Given the description of an element on the screen output the (x, y) to click on. 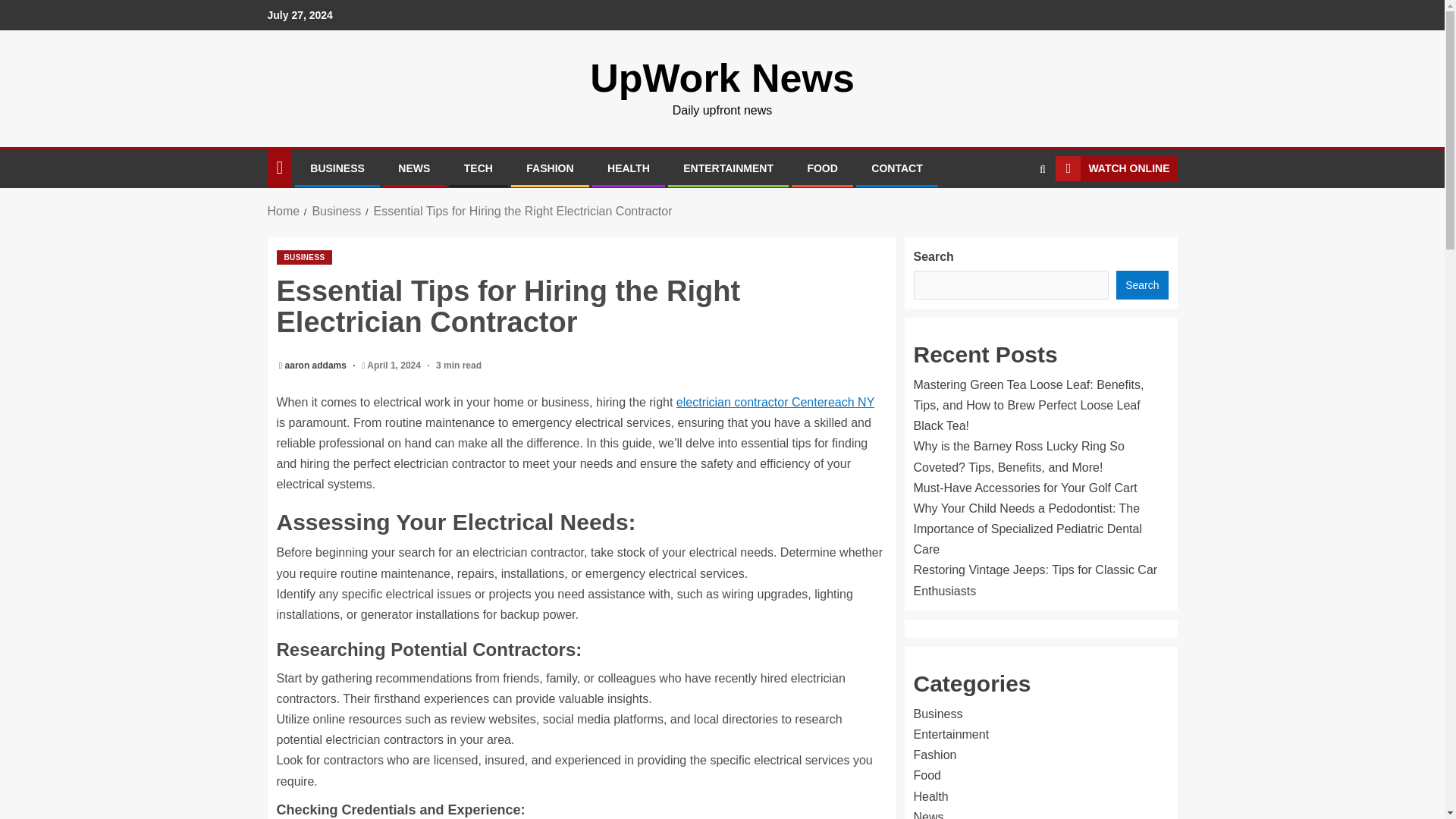
Search (1013, 214)
BUSINESS (337, 168)
Home (282, 210)
NEWS (413, 168)
FASHION (549, 168)
Business (336, 210)
TECH (478, 168)
electrician contractor Centereach NY (776, 401)
CONTACT (895, 168)
HEALTH (628, 168)
ENTERTAINMENT (727, 168)
UpWork News (721, 77)
Essential Tips for Hiring the Right Electrician Contractor (523, 210)
BUSINESS (303, 257)
aaron addams (317, 365)
